Given the description of an element on the screen output the (x, y) to click on. 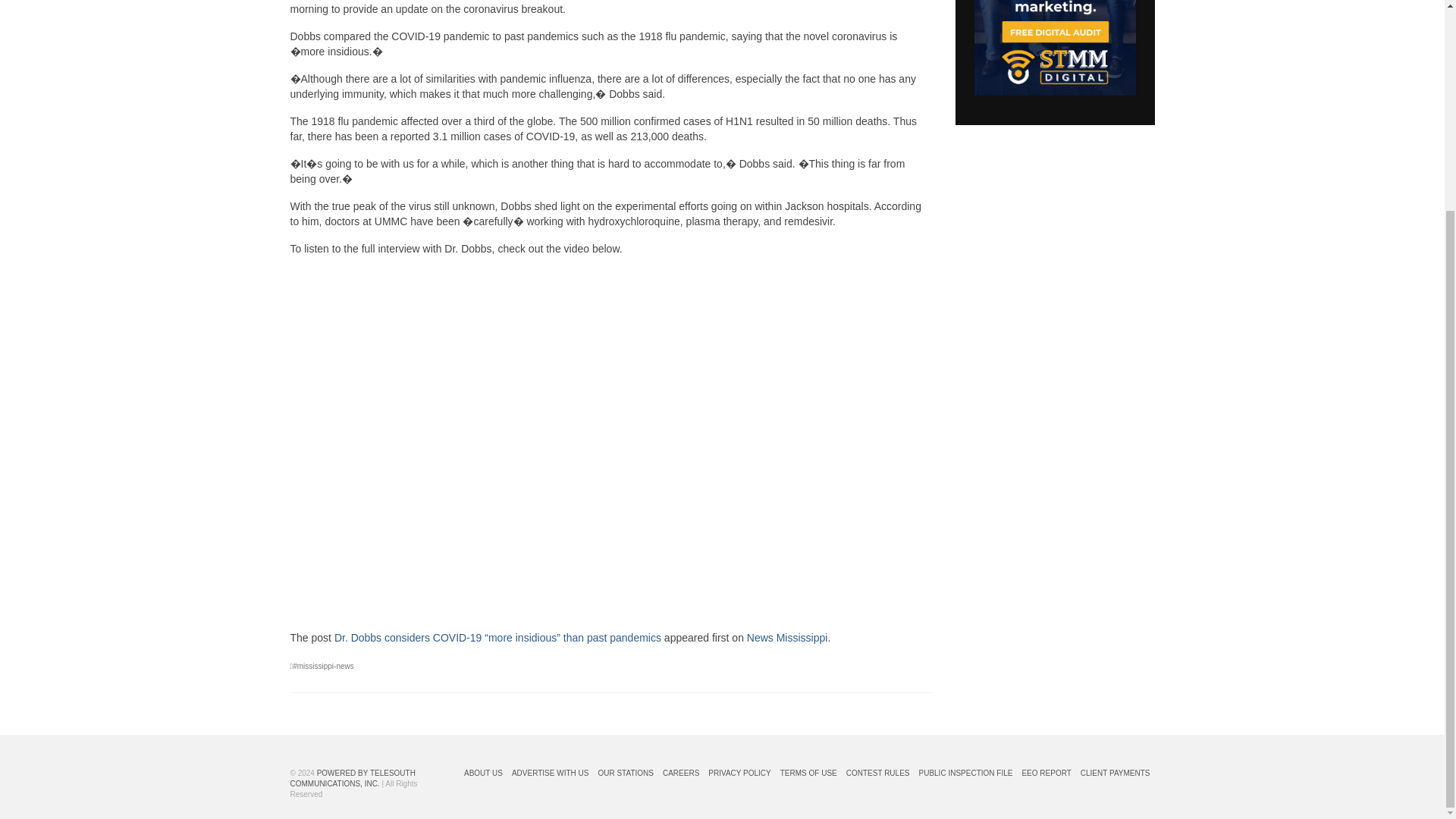
EEO REPORT (1045, 773)
News Mississippi (787, 637)
TERMS OF USE (808, 773)
CONTEST RULES (877, 773)
ABOUT US (483, 773)
OUR STATIONS (625, 773)
POWERED BY TELESOUTH COMMUNICATIONS, INC. (351, 778)
CAREERS (680, 773)
ADVERTISE WITH US (550, 773)
CLIENT PAYMENTS (1114, 773)
PRIVACY POLICY (738, 773)
PUBLIC INSPECTION FILE (965, 773)
